Given the description of an element on the screen output the (x, y) to click on. 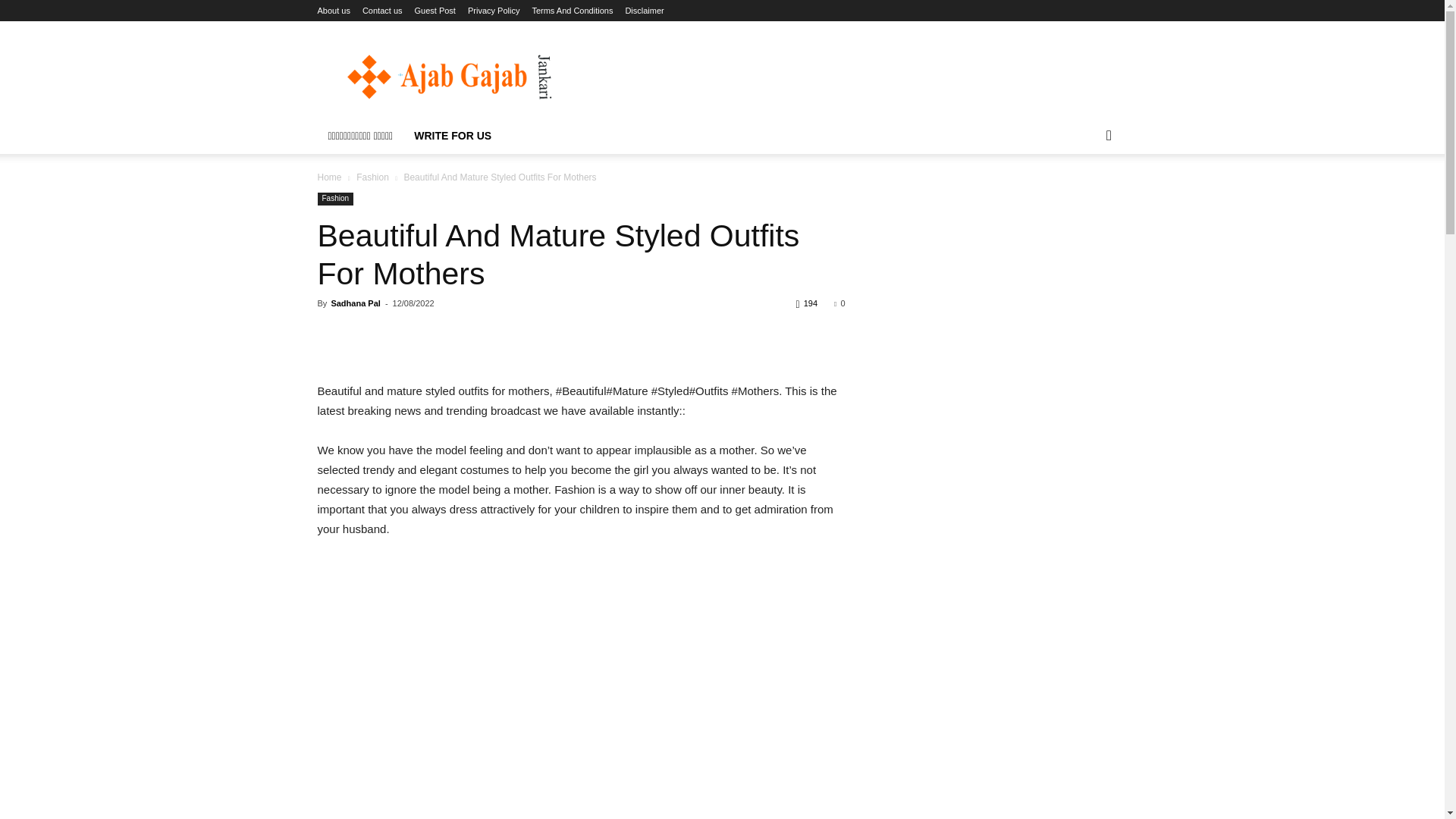
Fashion (335, 198)
Disclaimer (643, 10)
Home (328, 176)
Sadhana Pal (355, 302)
Contact us (382, 10)
WRITE FOR US (452, 135)
Fashion (372, 176)
View all posts in Fashion (372, 176)
Search (1085, 196)
Privacy Policy (493, 10)
Guest Post (434, 10)
Terms And Conditions (571, 10)
0 (839, 302)
About us (333, 10)
